Given the description of an element on the screen output the (x, y) to click on. 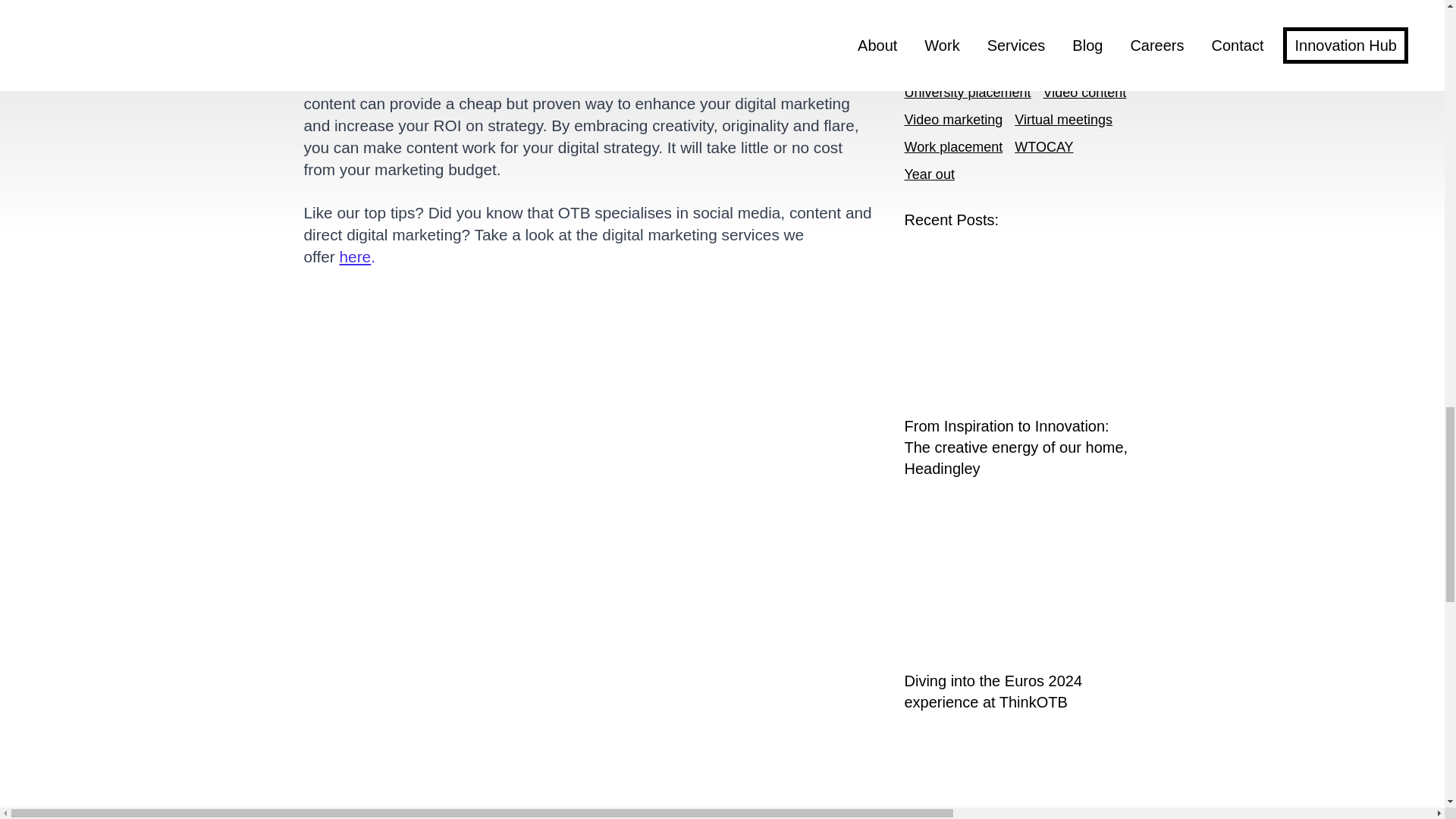
here. (357, 256)
